Given the description of an element on the screen output the (x, y) to click on. 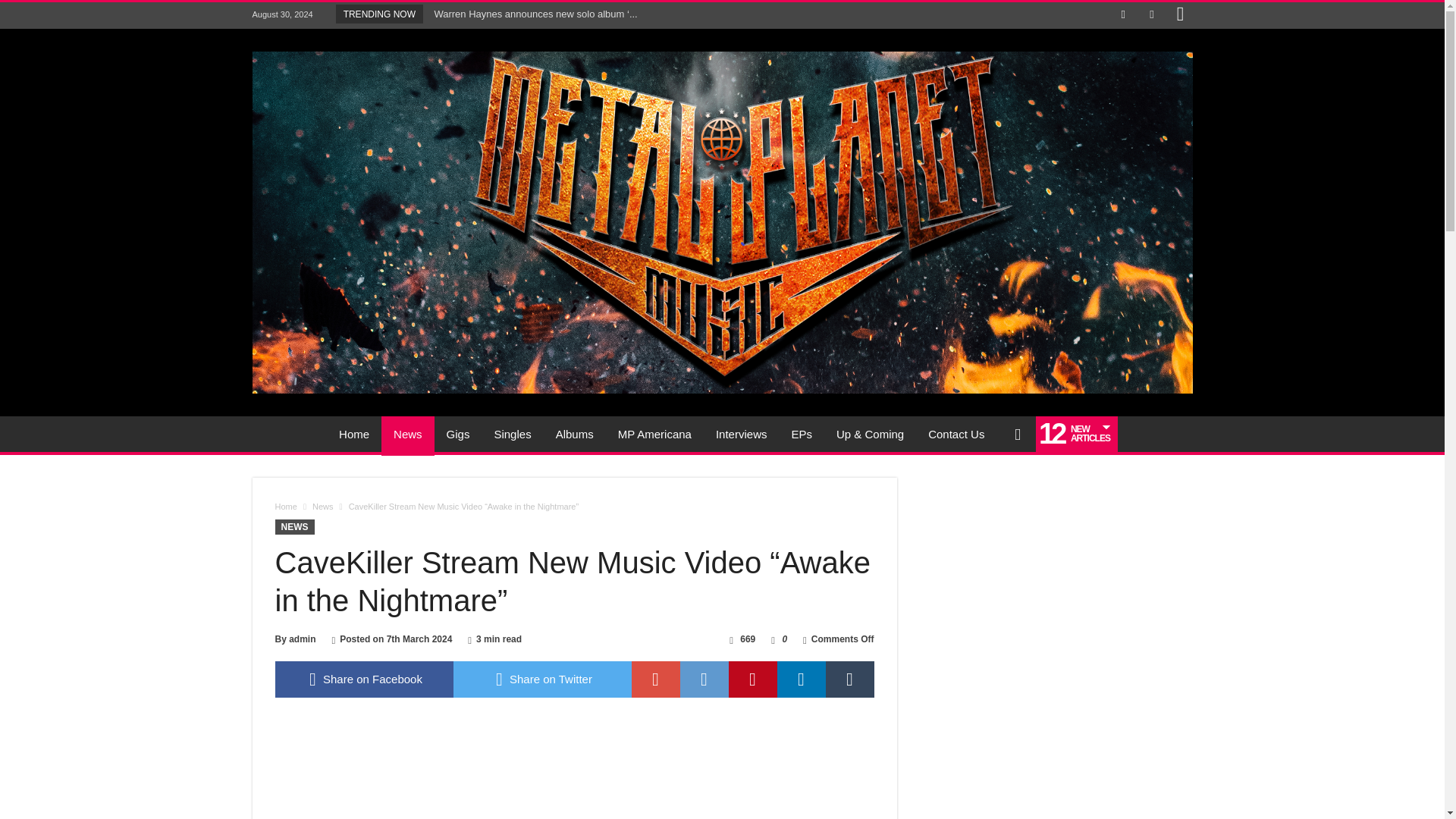
reddit (703, 678)
Albums (574, 434)
Home (286, 506)
Interviews (740, 434)
I like this article (772, 638)
pinterest (752, 678)
Singles (512, 434)
google (654, 678)
Twitter (1151, 15)
twitter (541, 678)
